Given the description of an element on the screen output the (x, y) to click on. 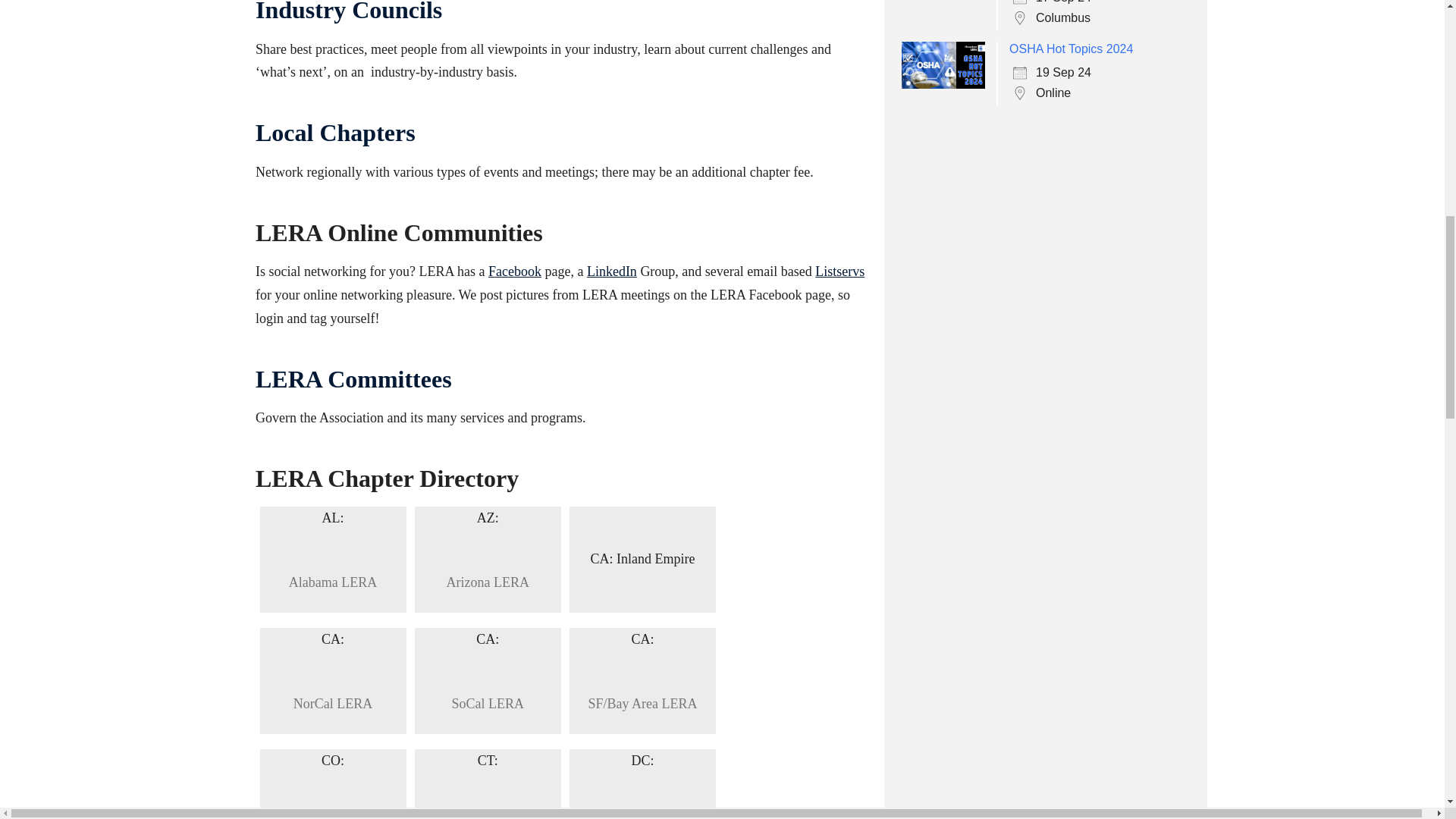
LinkedIn (611, 271)
Industry Councils (349, 11)
LERA Committees (353, 379)
Local Chapters (335, 132)
Arizona LERA (487, 582)
Facebook (514, 271)
SoCal LERA (487, 703)
NorCal LERA (332, 703)
Listservs (839, 271)
Alabama LERA (332, 582)
